Given the description of an element on the screen output the (x, y) to click on. 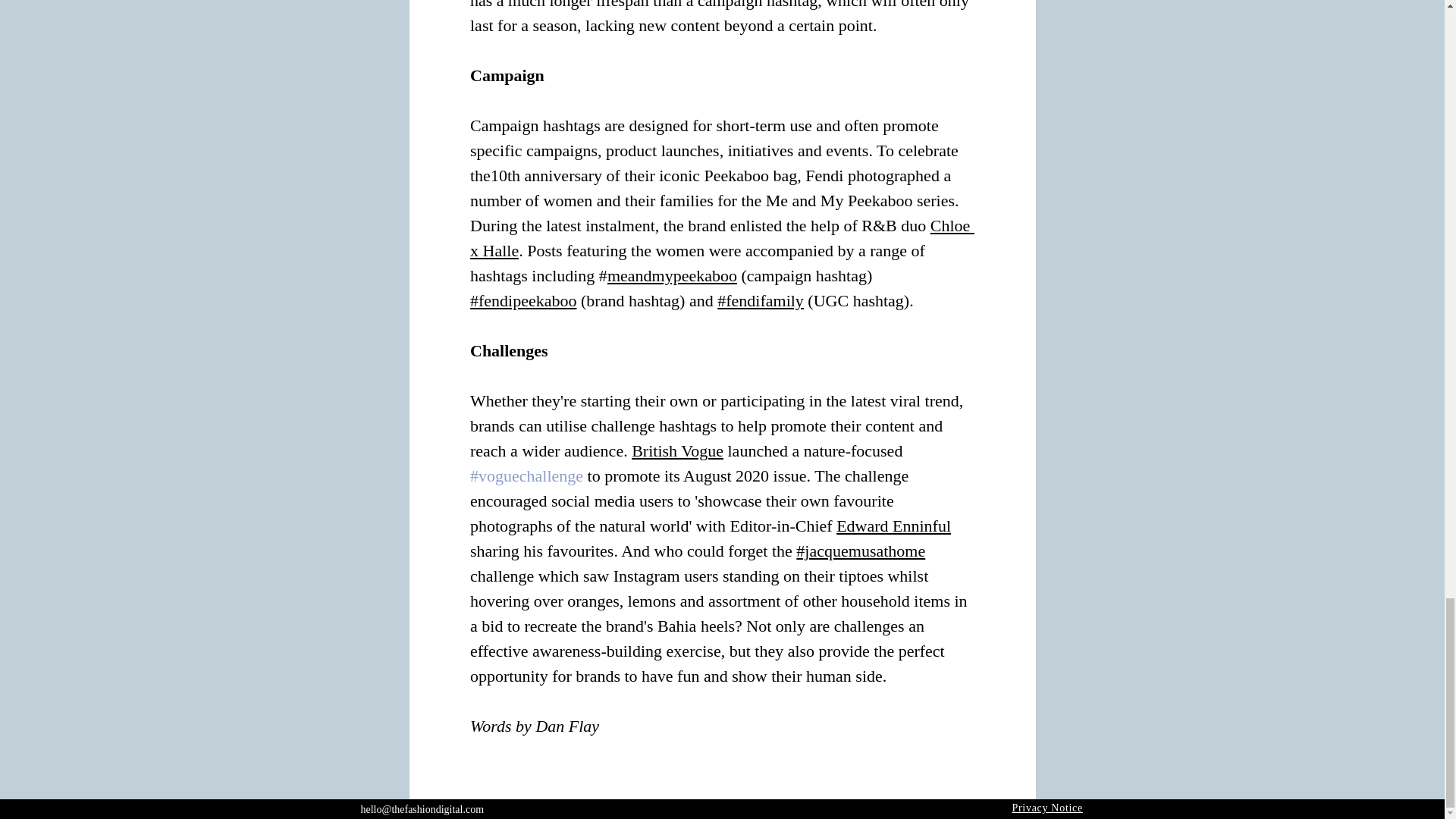
photographs (511, 525)
Edward Enninful (892, 525)
ritish Vogue (682, 450)
meandmypeekaboo (671, 275)
Chloe x Halle (722, 238)
